Given the description of an element on the screen output the (x, y) to click on. 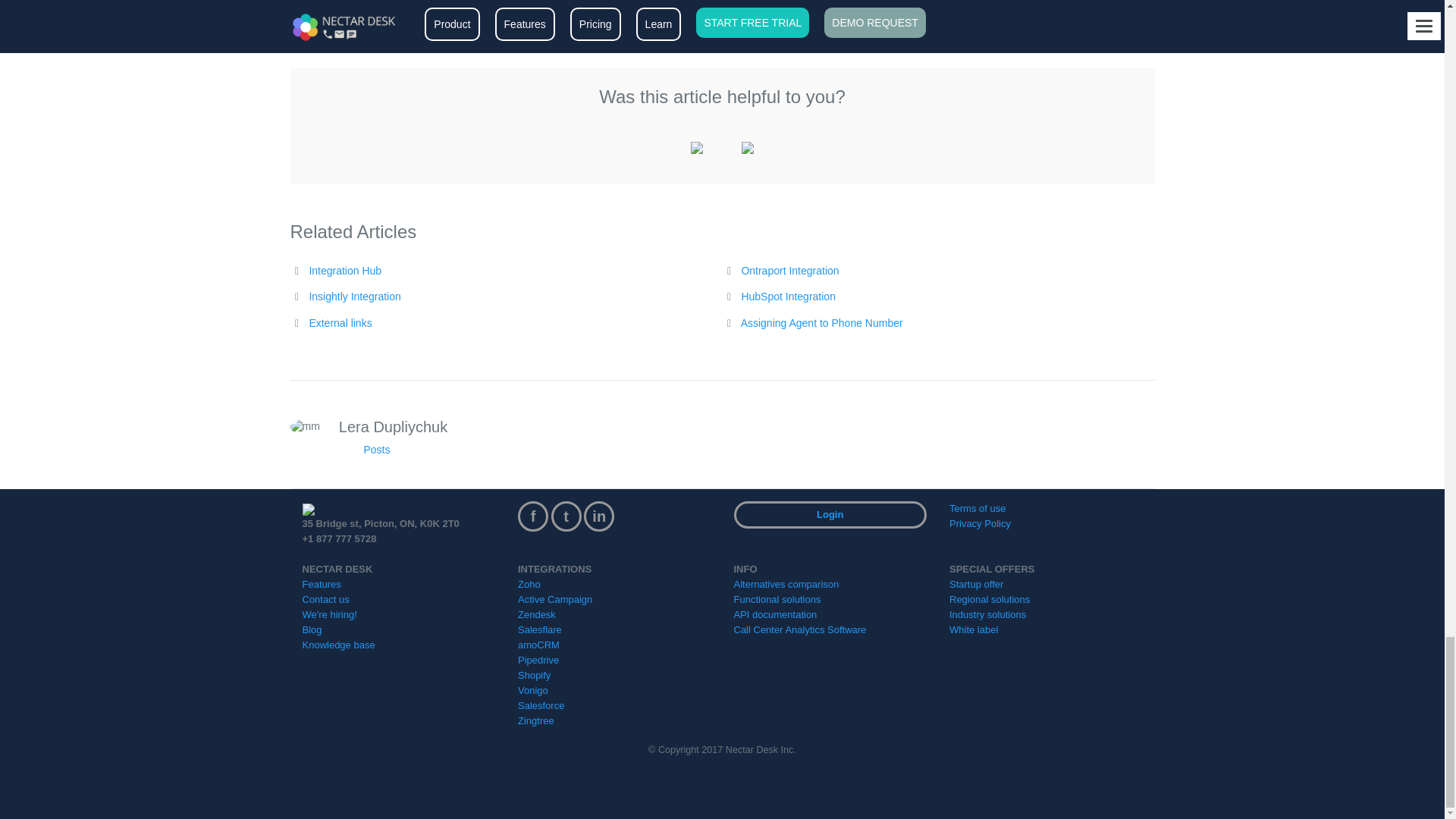
Miscellaneous (416, 23)
Features (313, 23)
Integrations (360, 23)
Lera Dupliychuk (623, 23)
